Given the description of an element on the screen output the (x, y) to click on. 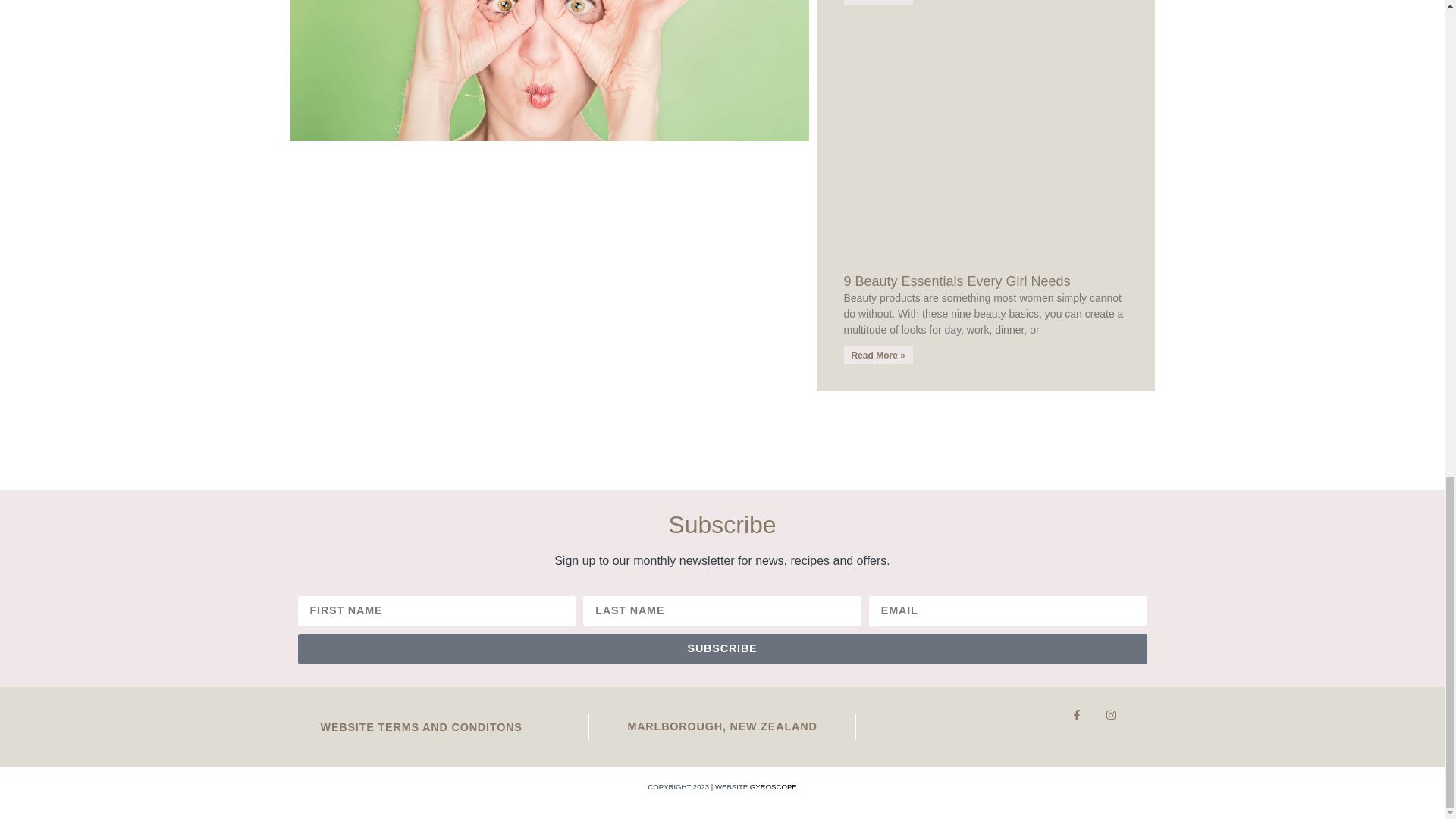
9 Beauty Essentials Every Girl Needs (956, 281)
SUBSCRIBE (722, 648)
WEBSITE TERMS AND CONDITONS (420, 726)
GYROSCOPE (772, 786)
